Given the description of an element on the screen output the (x, y) to click on. 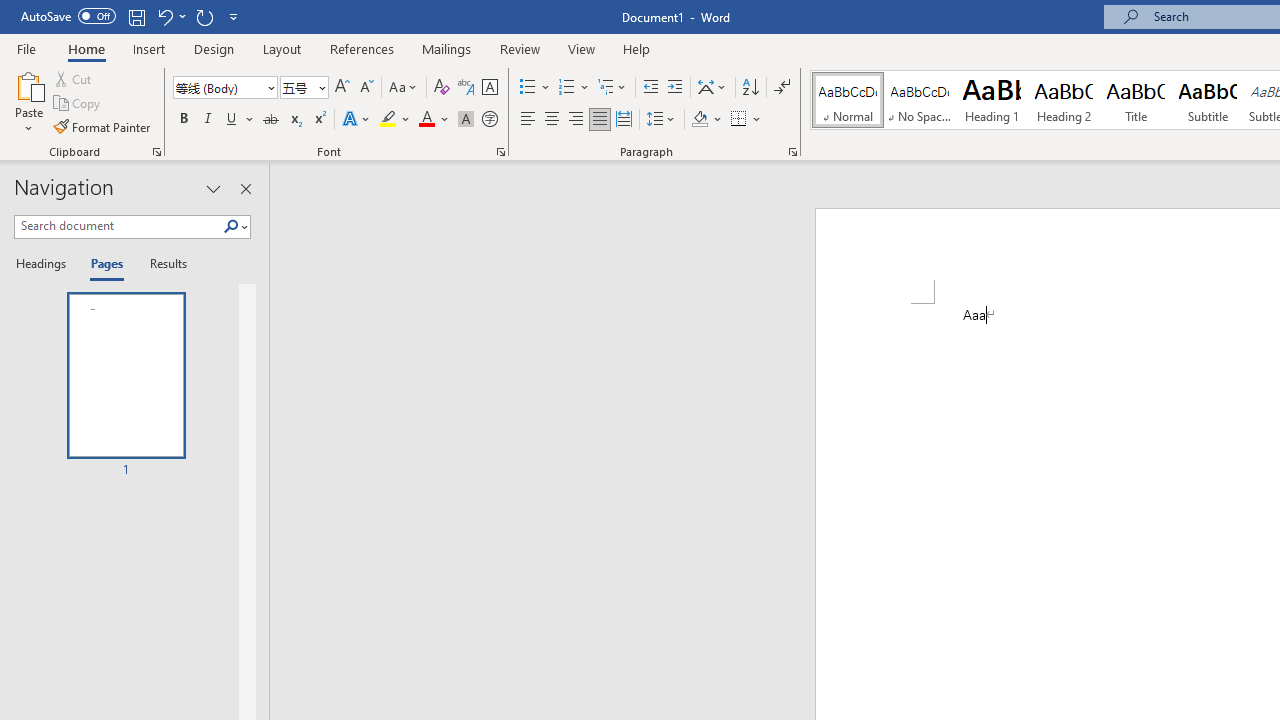
Quick Access Toolbar (131, 16)
Undo Increase Indent (164, 15)
Grow Font (342, 87)
Subscript (294, 119)
Shrink Font (365, 87)
Undo Increase Indent (170, 15)
Heading 1 (991, 100)
Shading (706, 119)
More Options (757, 119)
Superscript (319, 119)
Underline (232, 119)
System (10, 11)
Character Border (489, 87)
Align Right (575, 119)
